Given the description of an element on the screen output the (x, y) to click on. 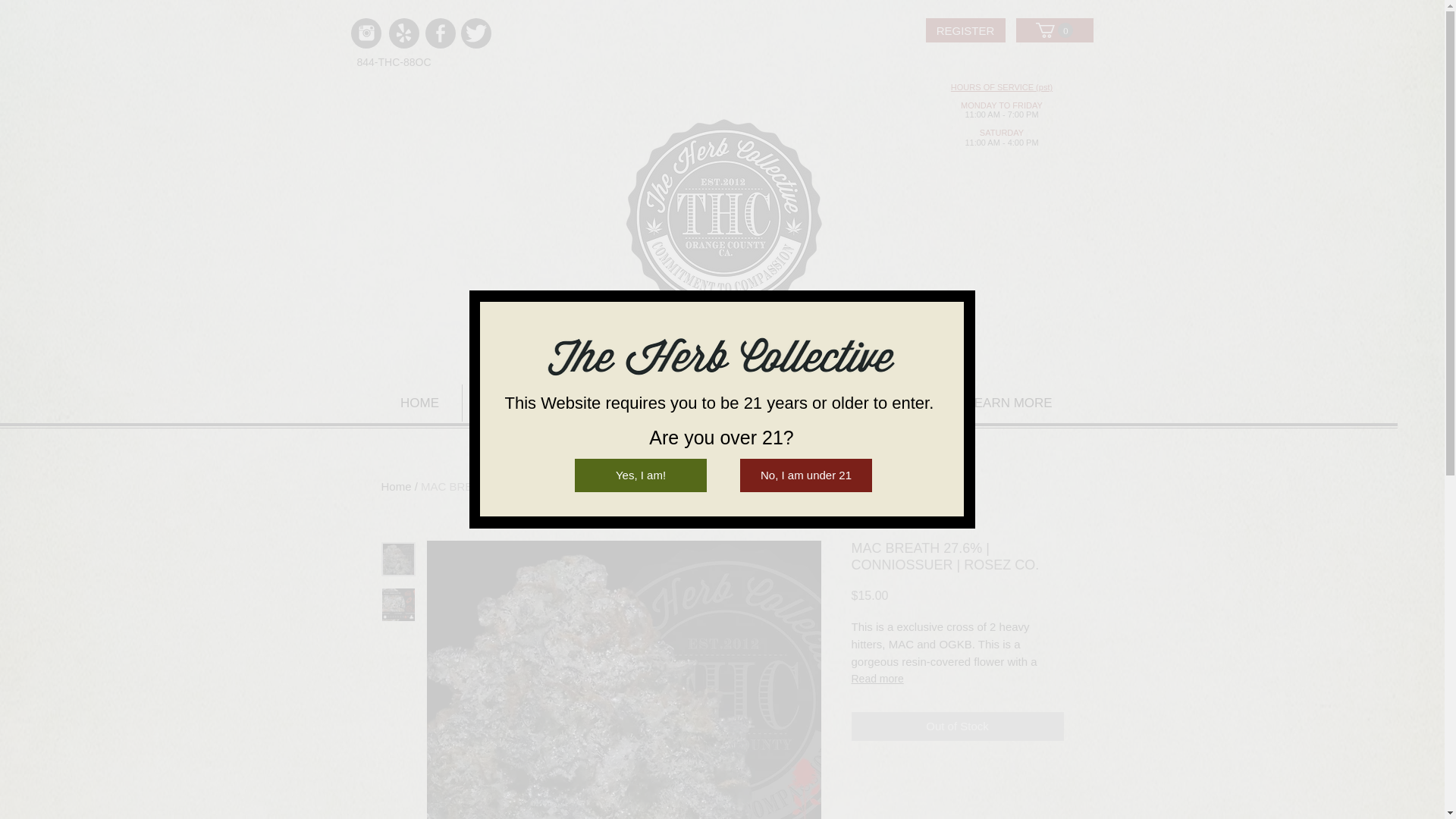
REGISTER (671, 402)
0 (1054, 29)
REGISTER (964, 30)
LEARN MORE (1009, 402)
Embedded Content (1125, 153)
0 (1054, 29)
SHOP (765, 402)
Home (395, 486)
HOME (419, 402)
HOW IT WORKS (540, 402)
